Given the description of an element on the screen output the (x, y) to click on. 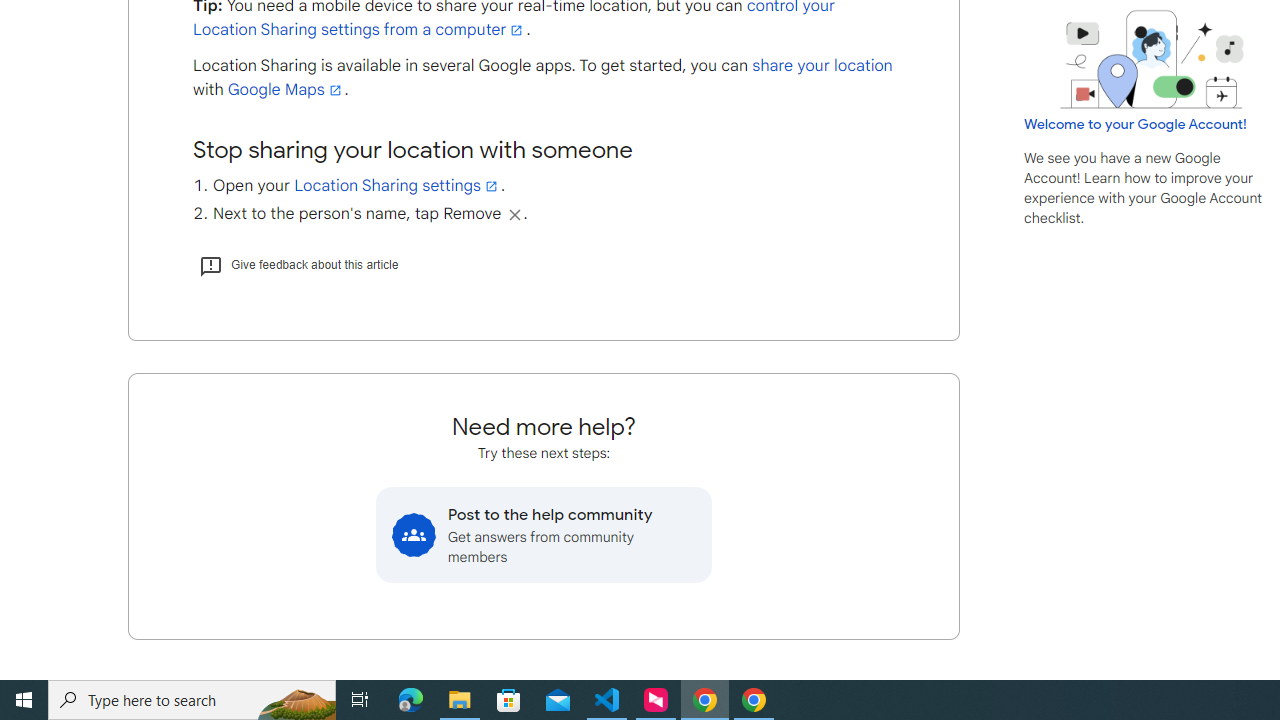
Google Maps (285, 89)
Welcome to your Google Account! (1135, 124)
share your location (822, 66)
Location Sharing settings (397, 185)
Learning Center home page image (1152, 59)
Give feedback about this article (298, 264)
